Given the description of an element on the screen output the (x, y) to click on. 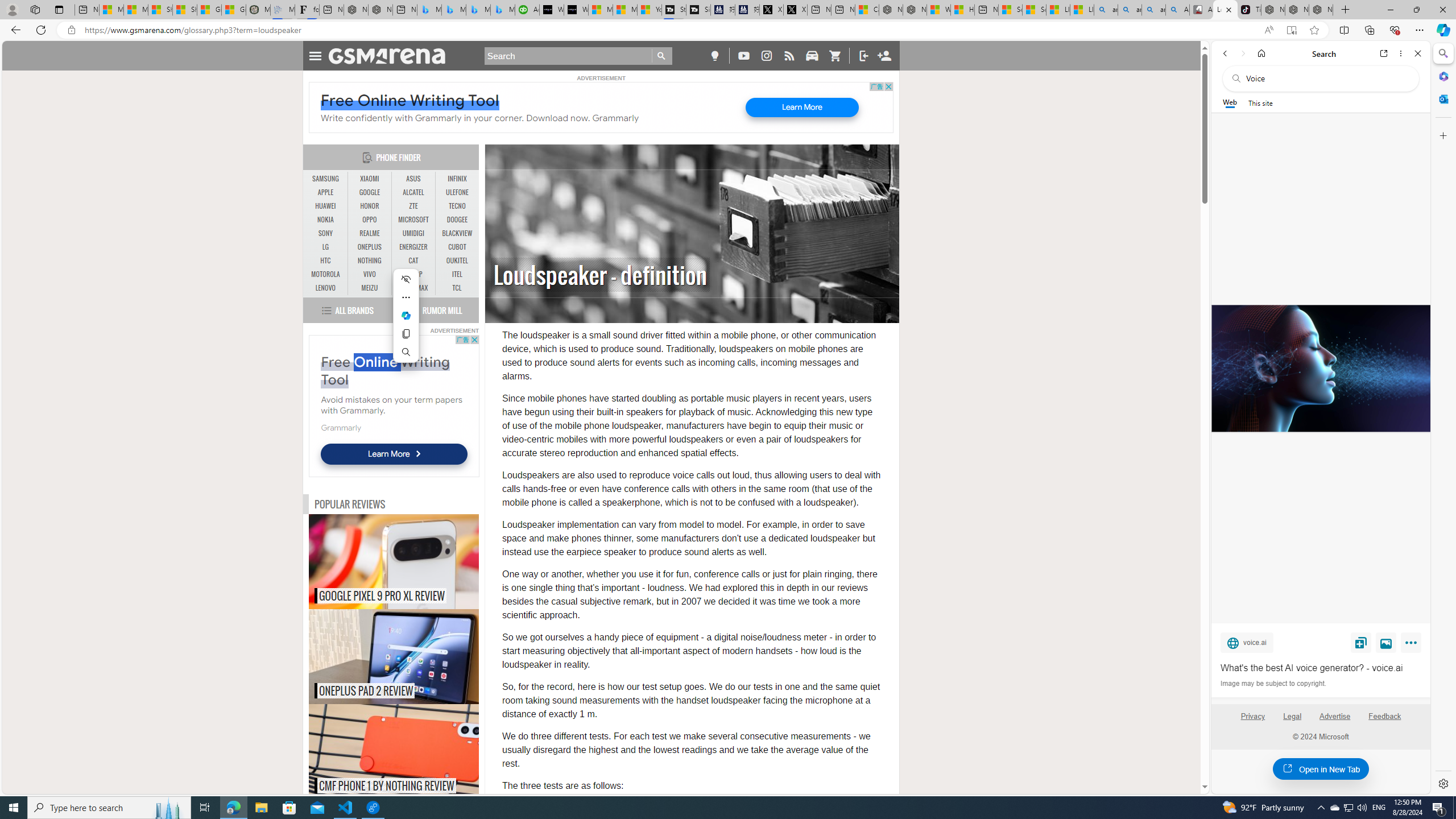
Mini menu on text selection (406, 322)
Nordace - Summer Adventures 2024 (914, 9)
MEIZU (369, 287)
SAMSUNG (325, 178)
LG (325, 246)
More actions (406, 297)
APPLE (325, 192)
What's the best AI voice generator? - voice.ai (1320, 667)
CAT (413, 260)
